Given the description of an element on the screen output the (x, y) to click on. 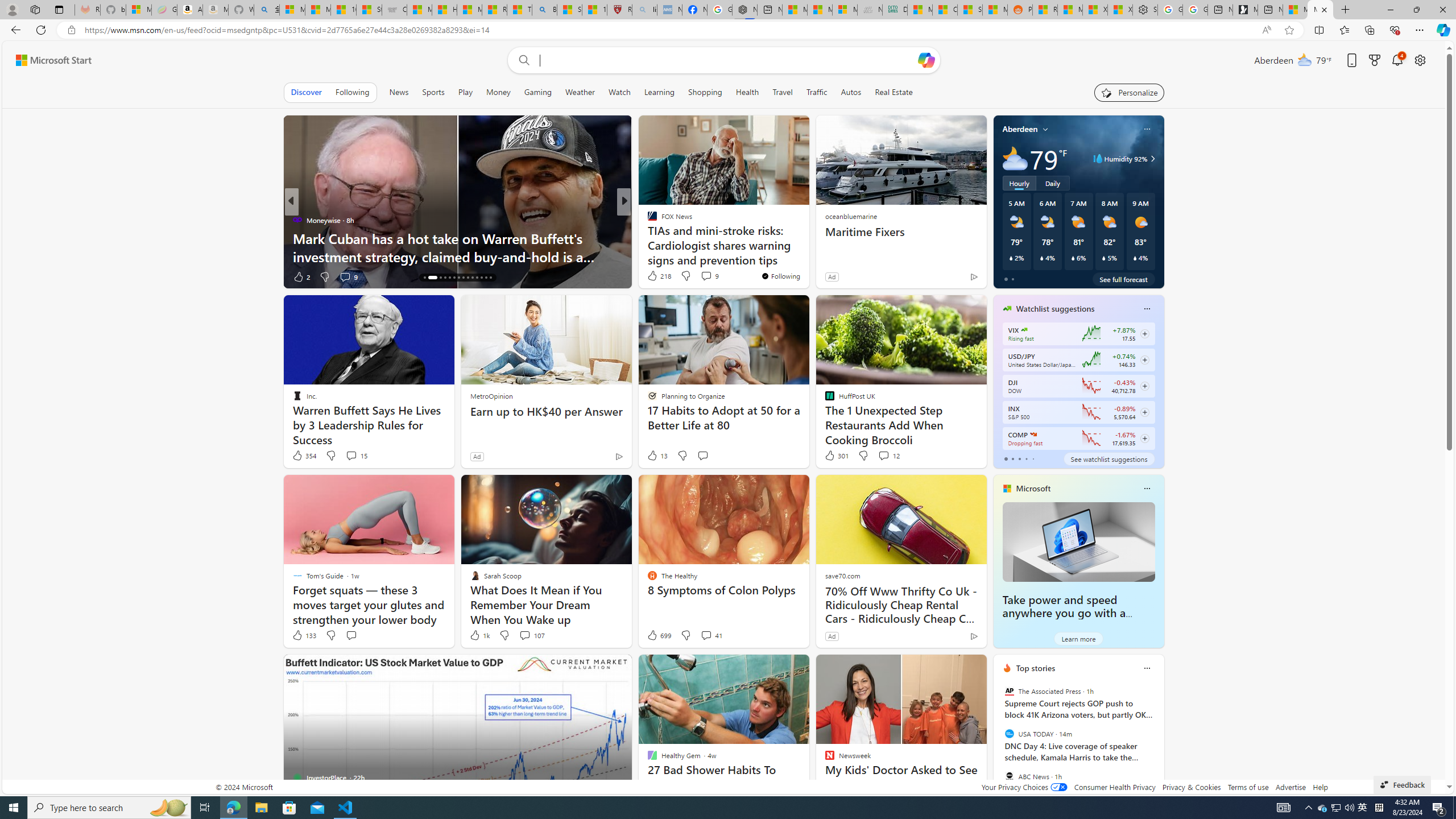
301 Like (835, 455)
HowToGeek (647, 238)
View comments 5 Comment (702, 276)
218 Like (658, 275)
Tasting Table (647, 219)
Humidity 92% (1150, 158)
View comments 66 Comment (703, 276)
AutomationID: tab-17 (436, 277)
AutomationID: tab-27 (486, 277)
